Given the description of an element on the screen output the (x, y) to click on. 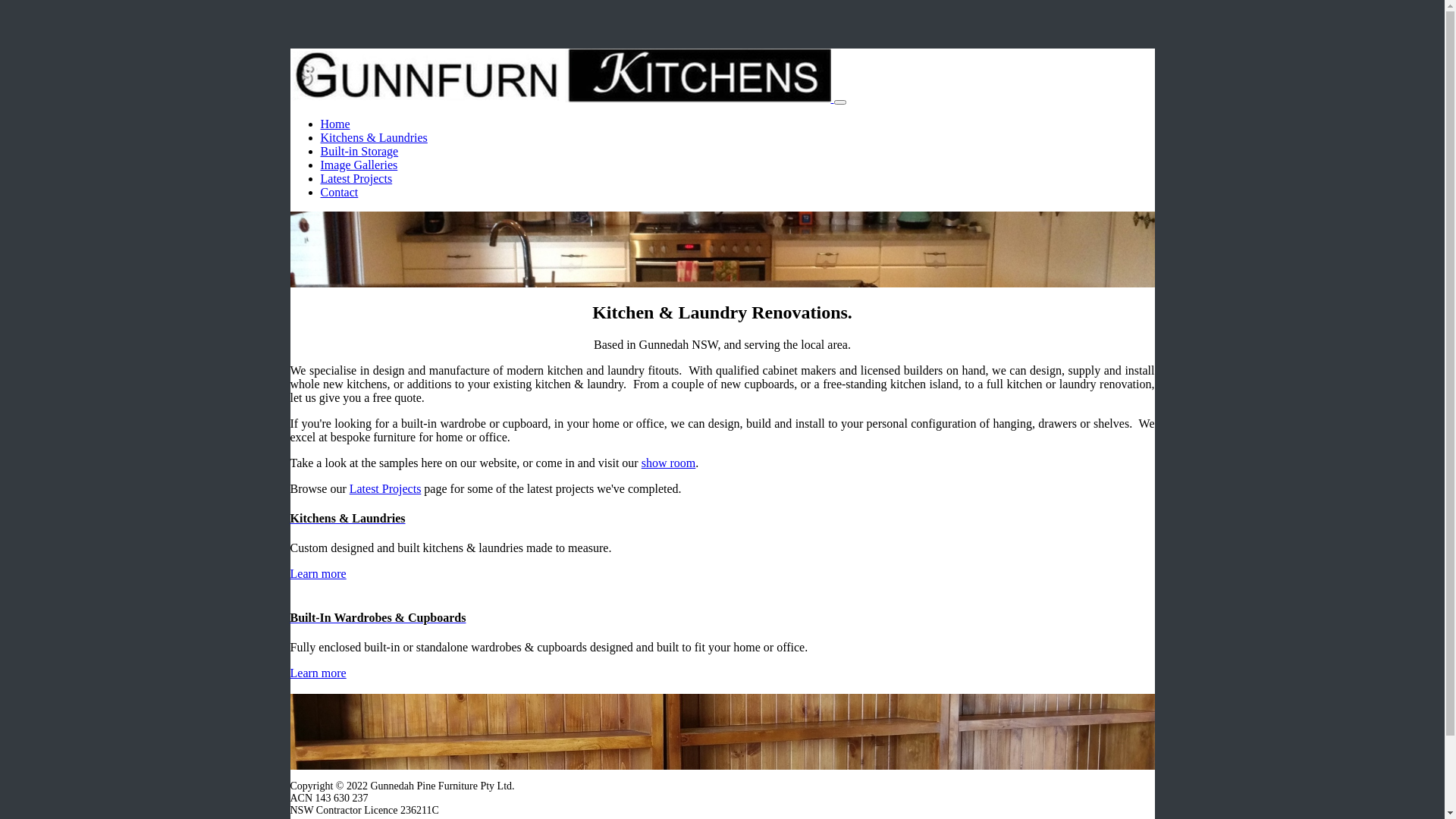
Image Galleries Element type: text (358, 164)
Home Element type: text (334, 123)
Learn more Element type: text (317, 573)
Latest Projects Element type: text (385, 488)
Latest Projects Element type: text (356, 178)
Kitchens & Laundries Element type: text (721, 518)
Built-in Storage Element type: text (359, 150)
Kitchens & Laundries Element type: text (373, 137)
show room Element type: text (668, 462)
Contact Element type: text (338, 191)
Learn more Element type: text (317, 672)
Built-In Wardrobes & Cupboards Element type: text (721, 617)
